Given the description of an element on the screen output the (x, y) to click on. 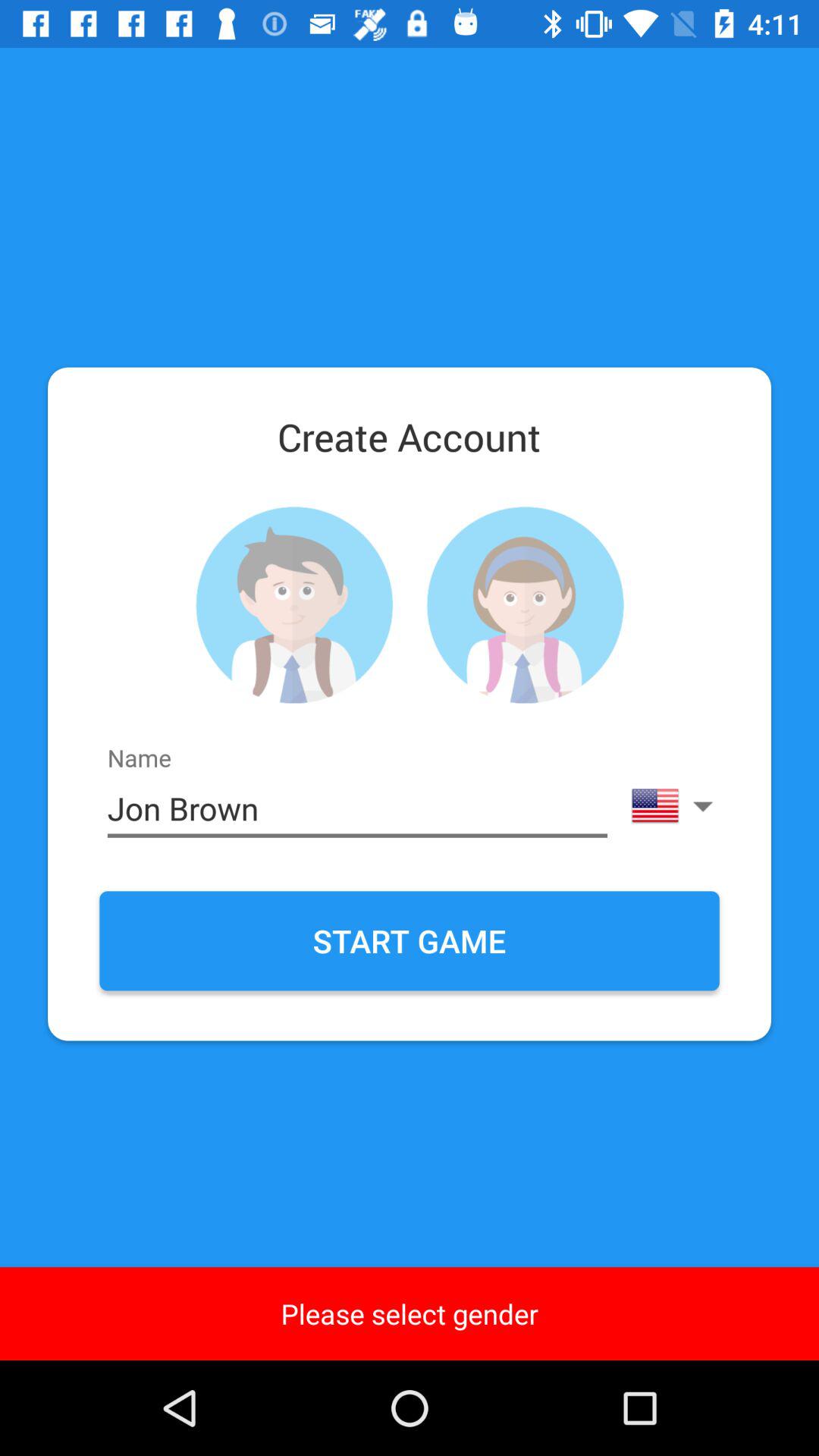
account (293, 605)
